Given the description of an element on the screen output the (x, y) to click on. 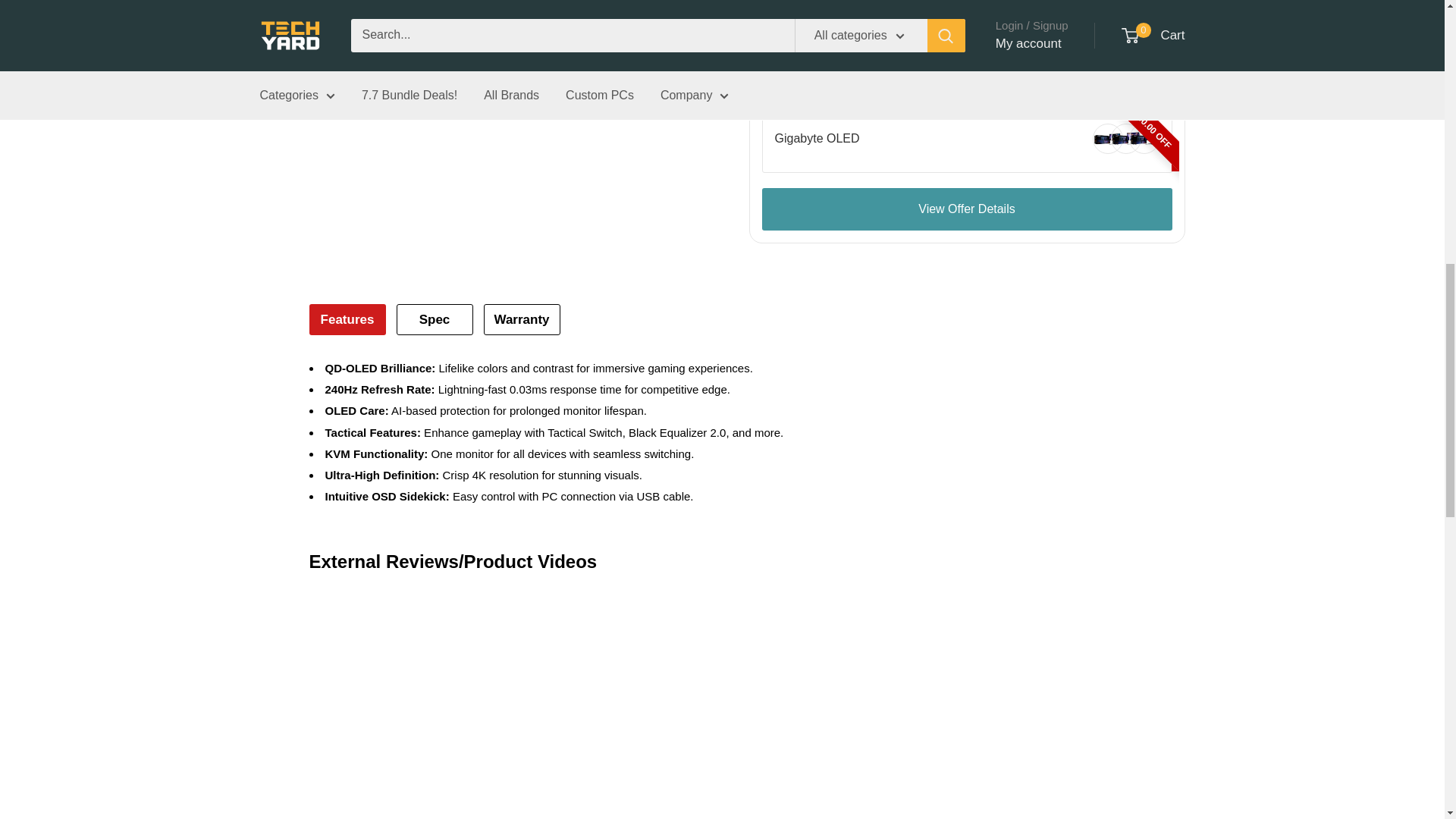
YouTube video player (582, 704)
